Given the description of an element on the screen output the (x, y) to click on. 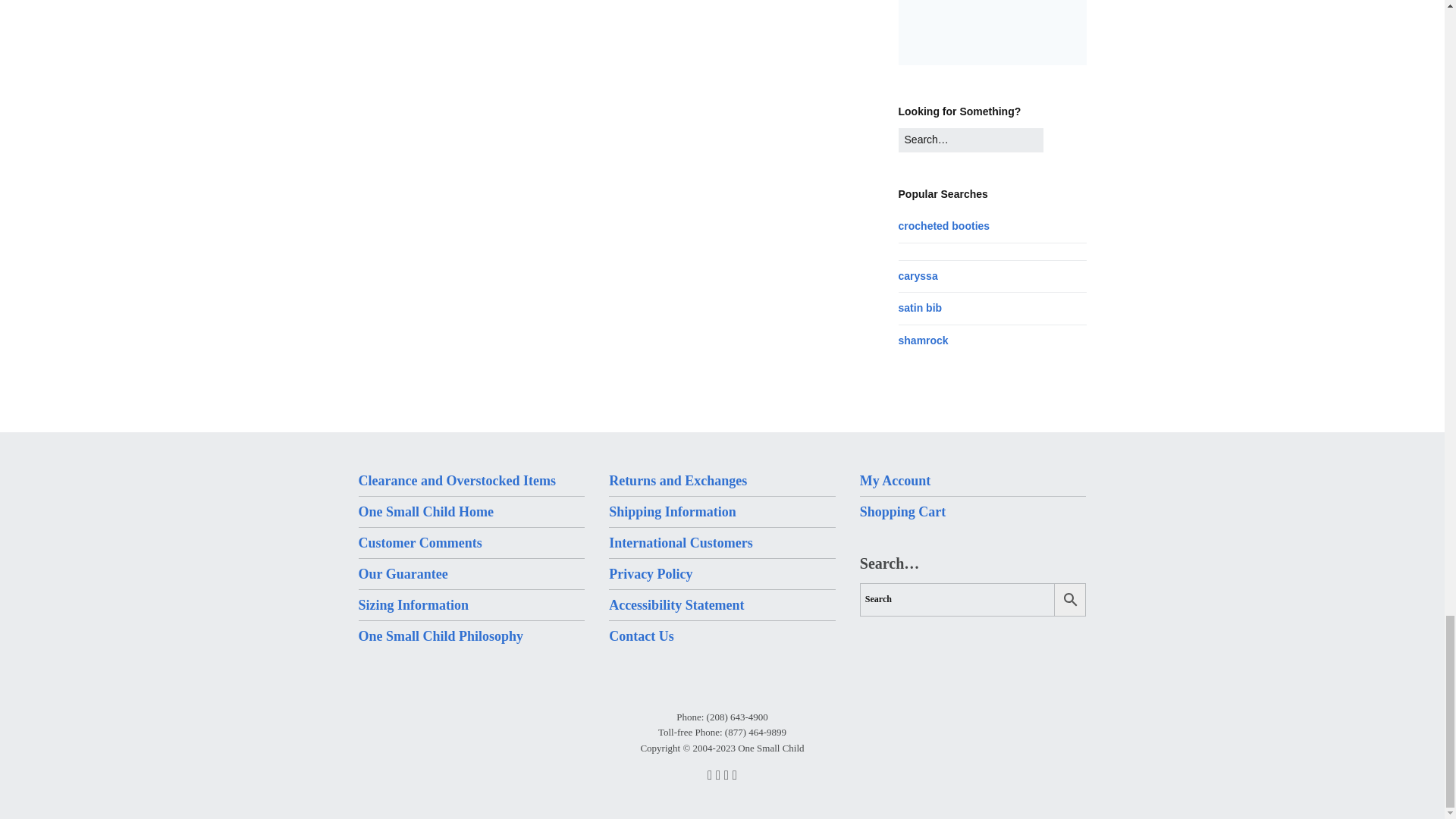
Press Enter to submit your search (970, 139)
